Given the description of an element on the screen output the (x, y) to click on. 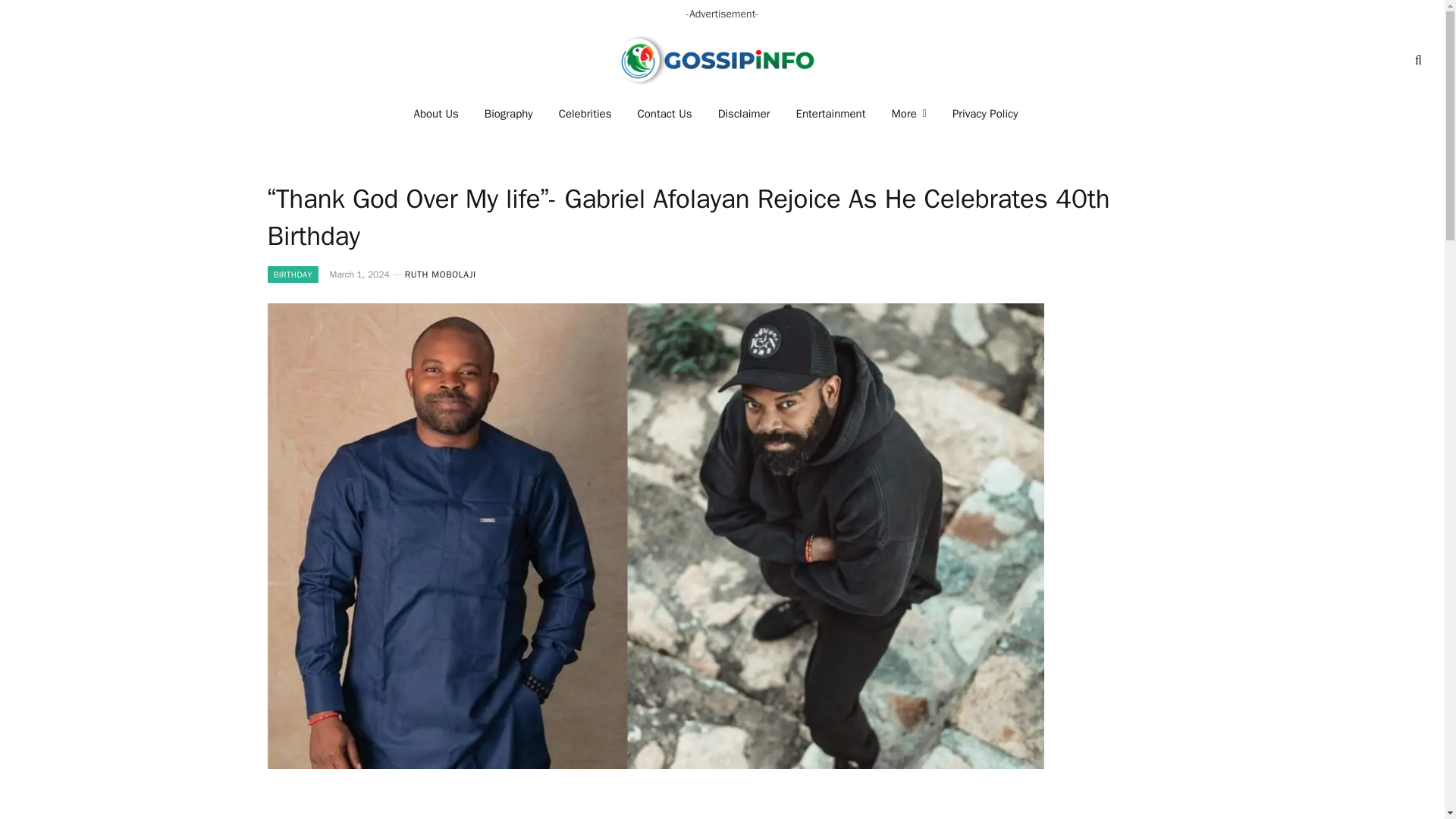
Contact Us (664, 113)
Entertainment (831, 113)
RUTH MOBOLAJI (440, 274)
Posts by Ruth Mobolaji (440, 274)
Gossipinfo (722, 59)
More (908, 113)
Biography (508, 113)
Celebrities (585, 113)
BIRTHDAY (291, 274)
Privacy Policy (984, 113)
Disclaimer (743, 113)
About Us (436, 113)
